Given the description of an element on the screen output the (x, y) to click on. 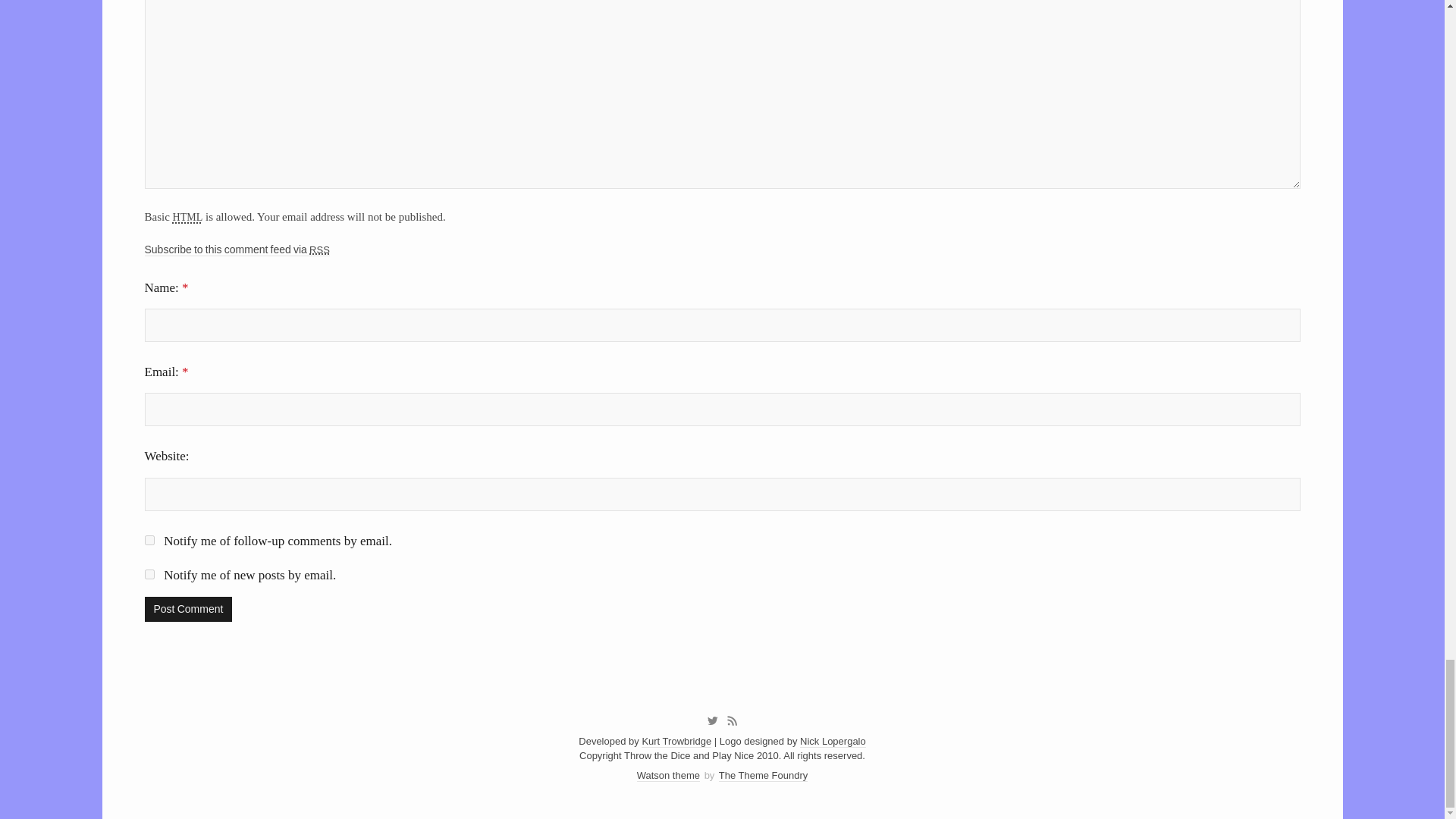
Really Simple Syndication (319, 248)
Hypertext Markup Language (188, 215)
Post Comment (187, 609)
subscribe (149, 574)
subscribe (149, 540)
